Given the description of an element on the screen output the (x, y) to click on. 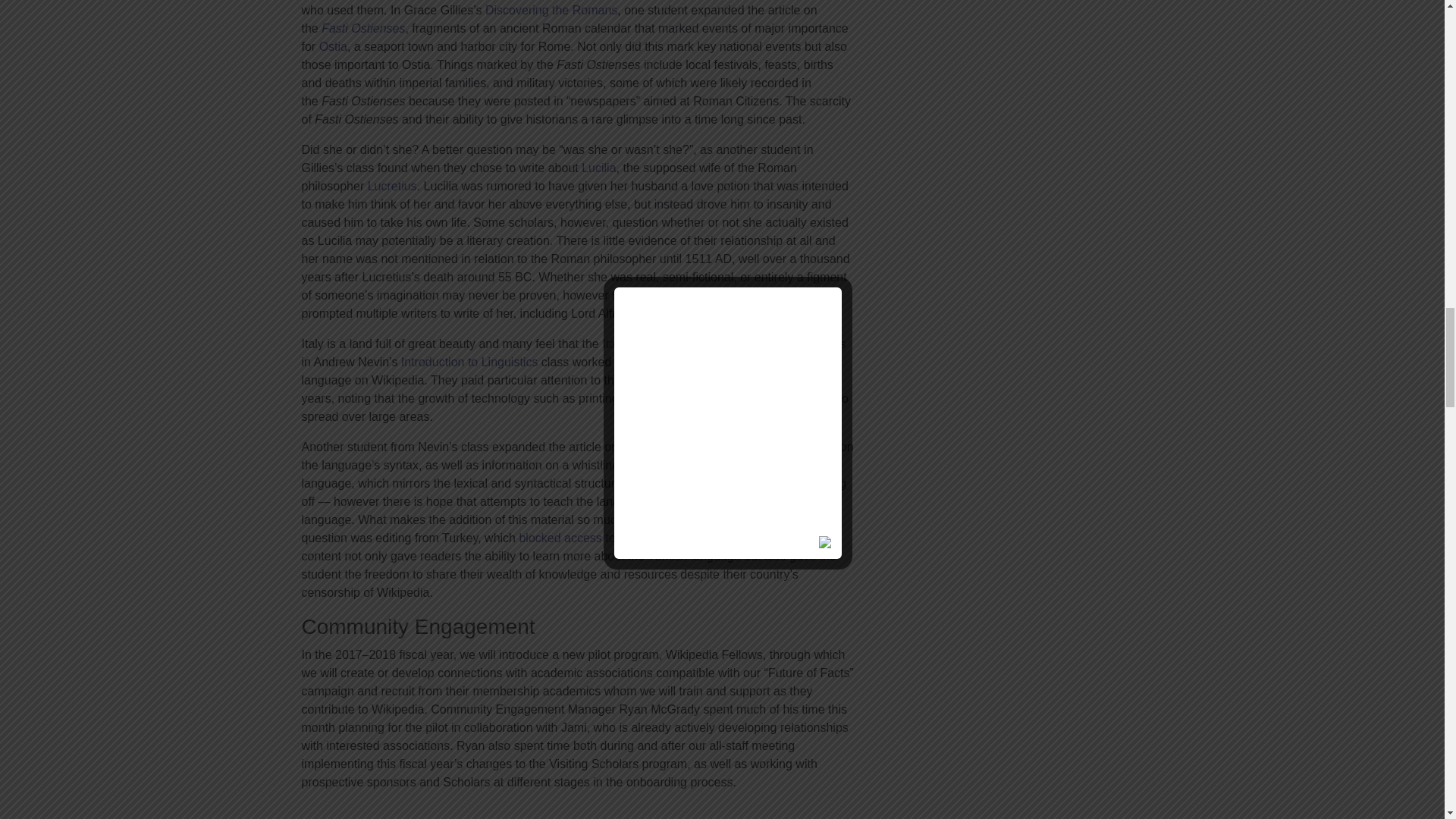
Discovering the Romans (550, 10)
Ostia (332, 46)
Fasti Ostienses (362, 28)
